Given the description of an element on the screen output the (x, y) to click on. 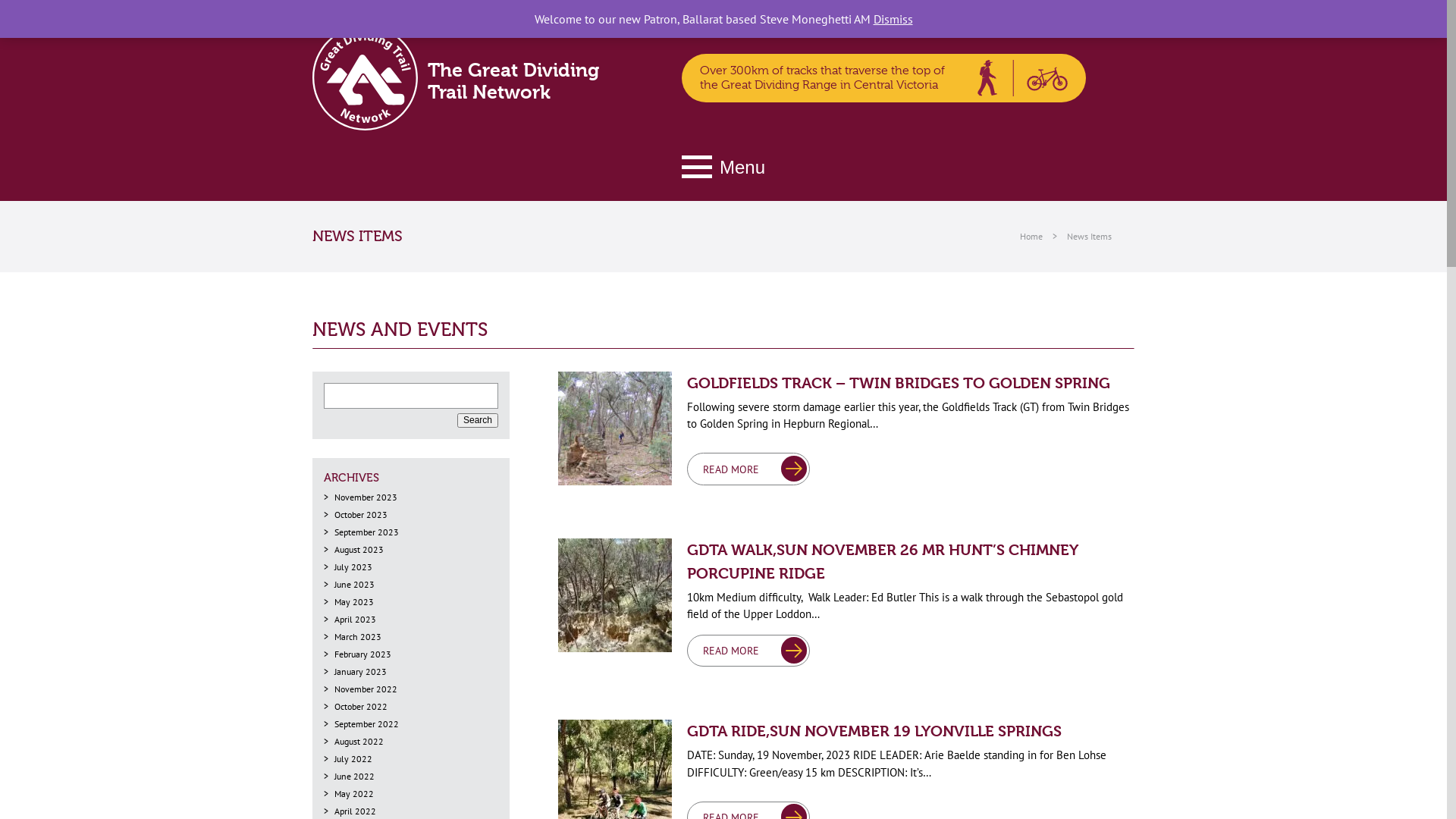
November 2023 Element type: text (365, 496)
June 2022 Element type: text (354, 775)
September 2022 Element type: text (366, 723)
January 2023 Element type: text (360, 671)
READ MORE Element type: text (748, 650)
READ MORE Element type: text (748, 468)
March 2023 Element type: text (357, 636)
February 2023 Element type: text (362, 653)
The Great Dividing Trail Network Element type: text (472, 77)
Home Element type: text (1031, 236)
Search Element type: text (477, 420)
November 2022 Element type: text (365, 688)
Menu Element type: text (723, 166)
July 2023 Element type: text (353, 566)
Dismiss Element type: text (893, 18)
June 2023 Element type: text (354, 583)
July 2022 Element type: text (353, 758)
September 2023 Element type: text (366, 531)
April 2023 Element type: text (355, 618)
October 2023 Element type: text (360, 514)
April 2022 Element type: text (355, 810)
October 2022 Element type: text (360, 706)
GDTA RIDE,SUN NOVEMBER 19 LYONVILLE SPRINGS Element type: text (874, 731)
May 2023 Element type: text (353, 601)
August 2022 Element type: text (358, 740)
August 2023 Element type: text (358, 549)
May 2022 Element type: text (353, 793)
